Given the description of an element on the screen output the (x, y) to click on. 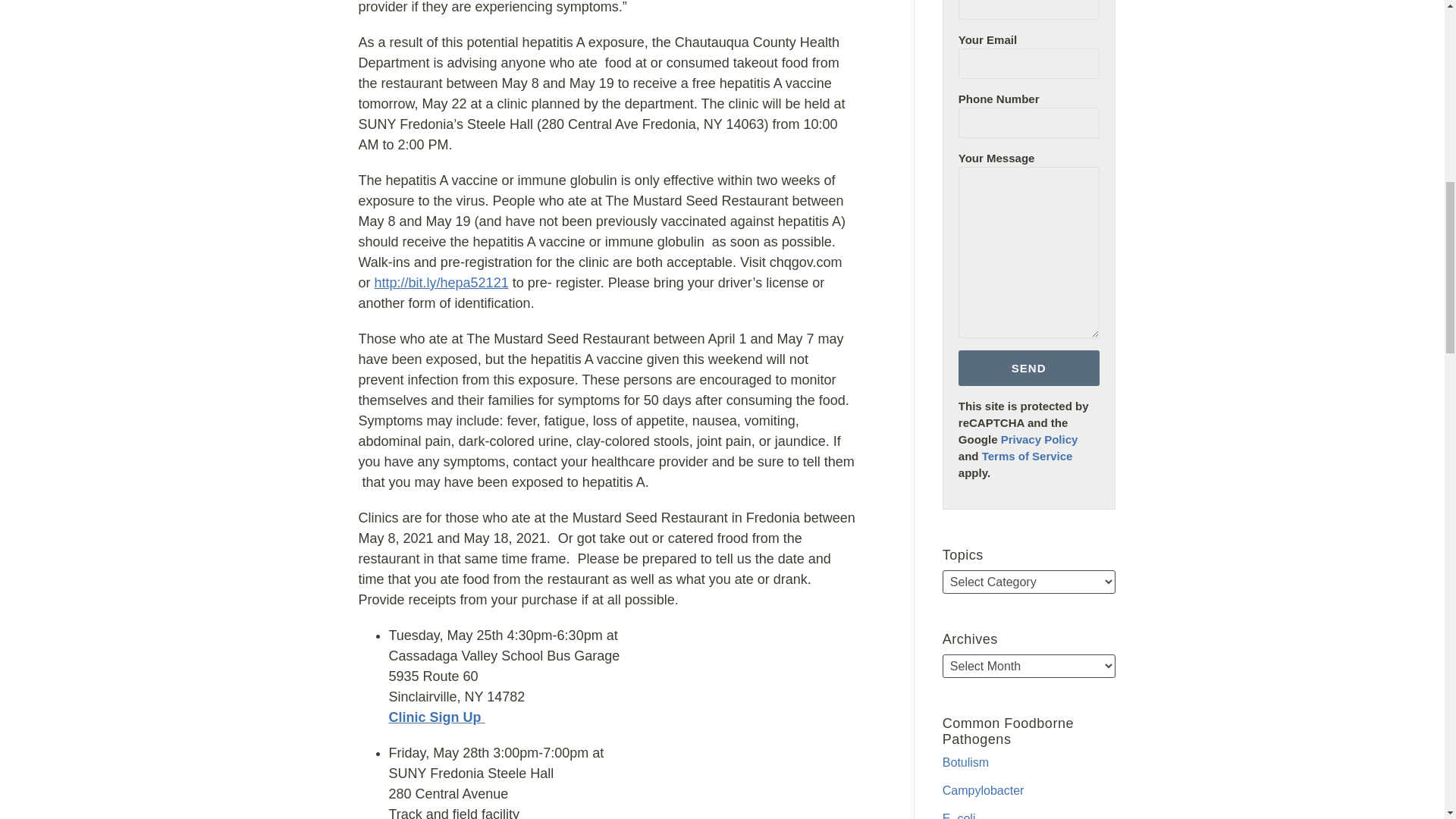
Clinic Sign Up (434, 717)
Send (1028, 367)
